Given the description of an element on the screen output the (x, y) to click on. 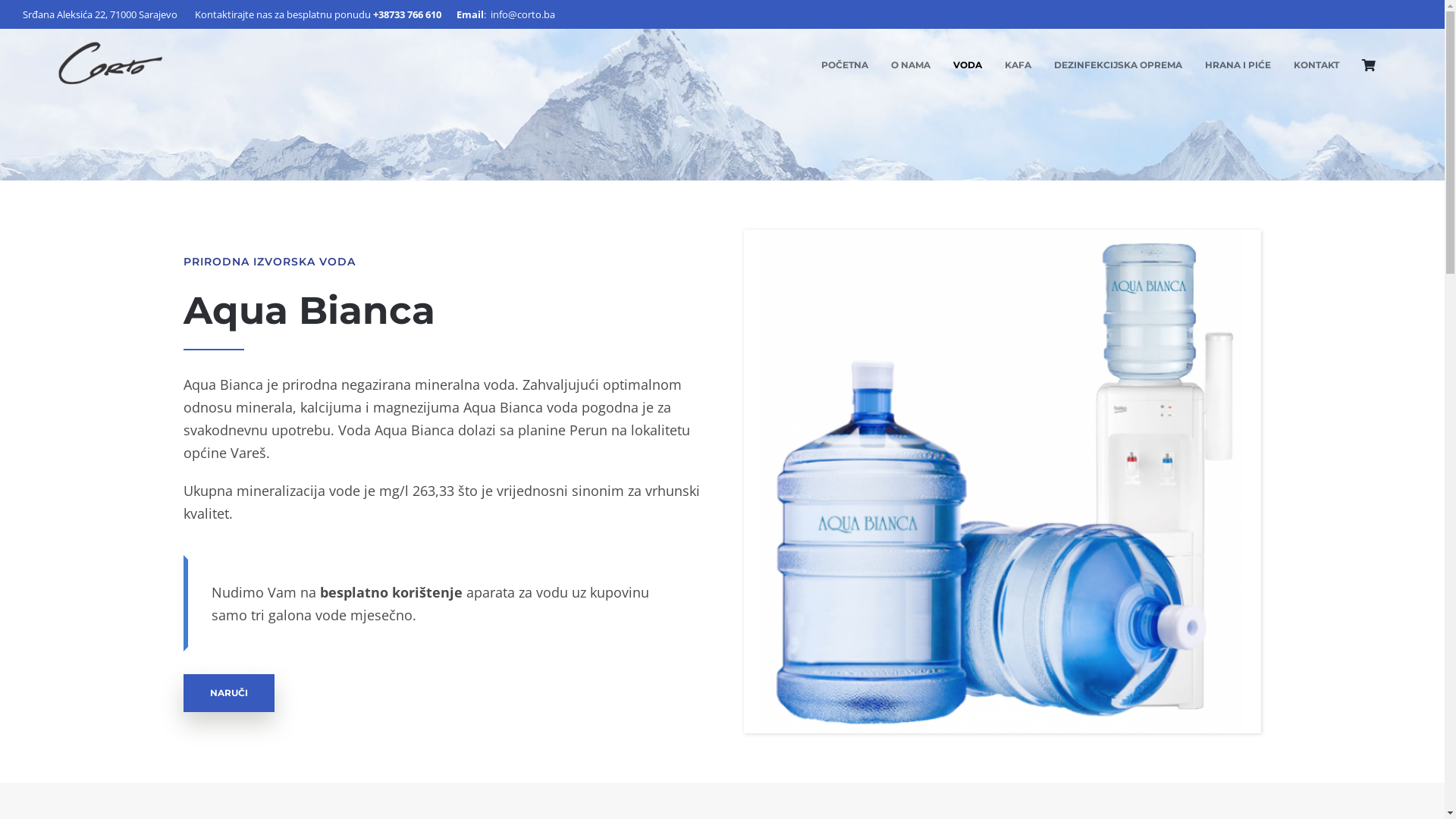
KONTAKT Element type: text (1316, 64)
KAFA Element type: text (1017, 64)
n1 Element type: hover (1001, 481)
O NAMA Element type: text (910, 64)
VODA Element type: text (967, 64)
+38733 766 610 Element type: text (407, 14)
DEZINFEKCIJSKA OPREMA Element type: text (1117, 64)
